Given the description of an element on the screen output the (x, y) to click on. 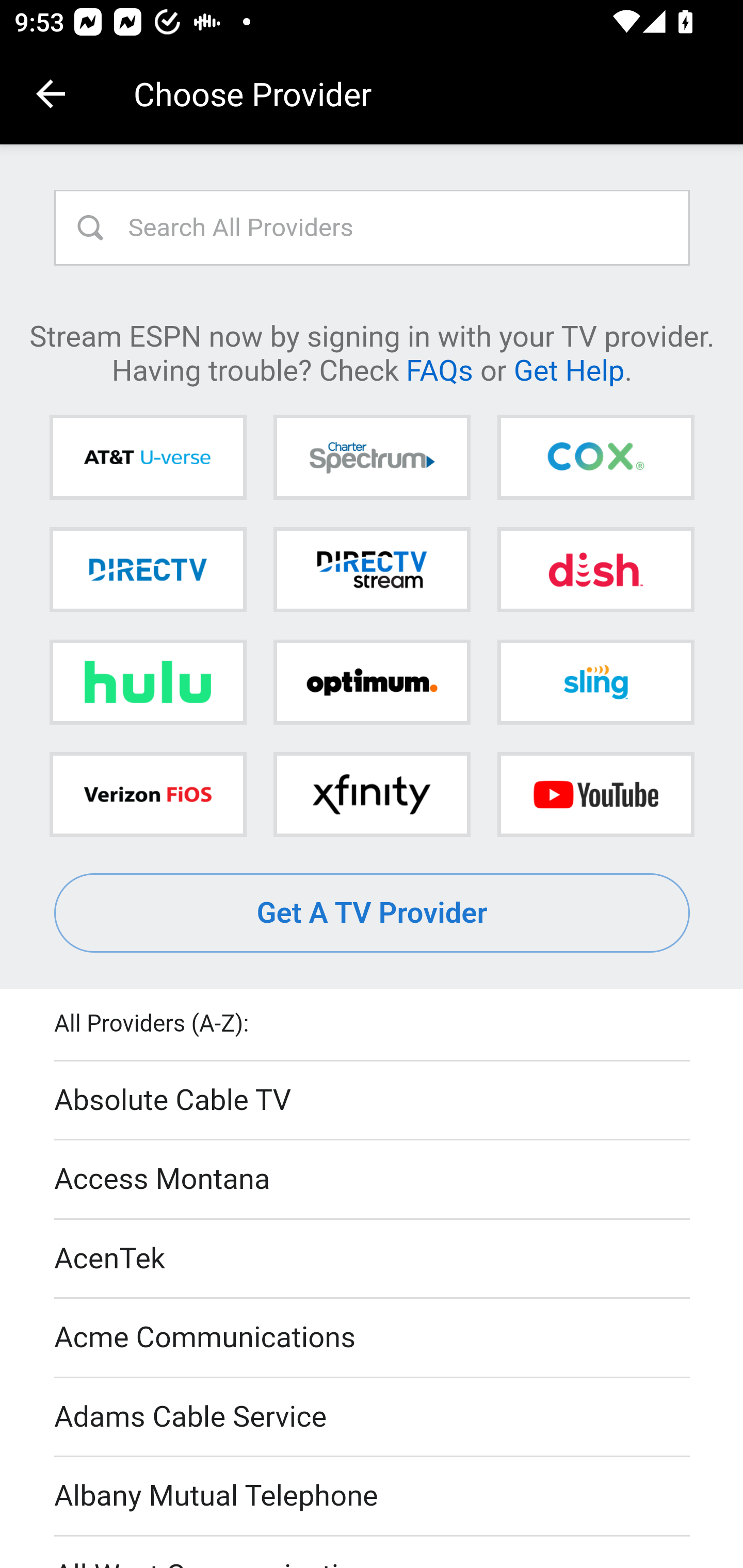
Navigate up (50, 93)
FAQs (438, 369)
Get Help (569, 369)
AT&T U-verse (147, 457)
Charter Spectrum (371, 457)
Cox (595, 457)
DIRECTV (147, 568)
DIRECTV STREAM (371, 568)
DISH (595, 568)
Hulu (147, 681)
Optimum (371, 681)
Sling TV (595, 681)
Verizon FiOS (147, 793)
Xfinity (371, 793)
YouTube TV (595, 793)
Get A TV Provider (372, 912)
Absolute Cable TV (372, 1100)
Access Montana (372, 1178)
AcenTek (372, 1258)
Acme Communications (372, 1338)
Adams Cable Service (372, 1417)
Albany Mutual Telephone (372, 1497)
